Given the description of an element on the screen output the (x, y) to click on. 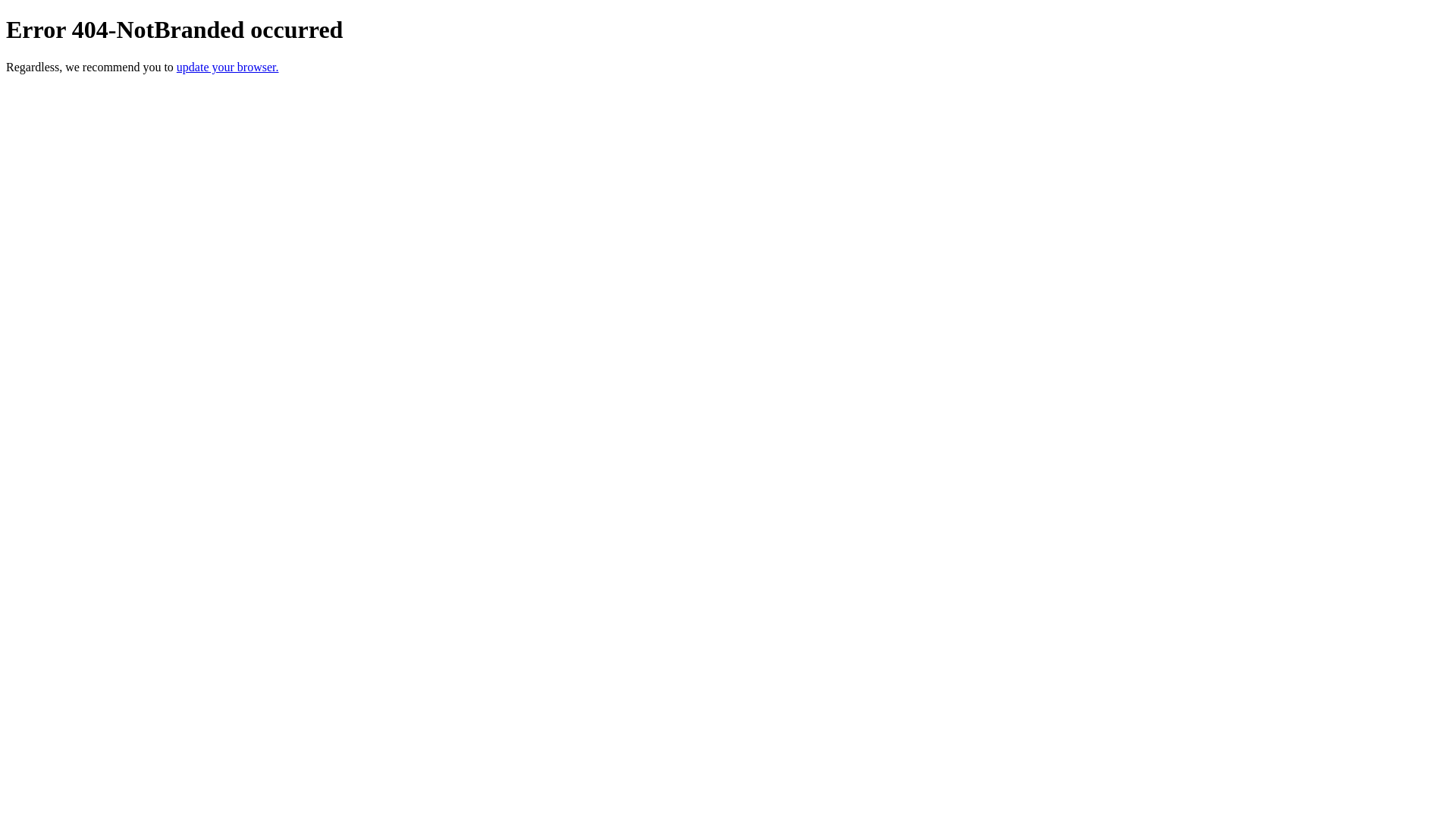
update your browser. Element type: text (227, 66)
